Given the description of an element on the screen output the (x, y) to click on. 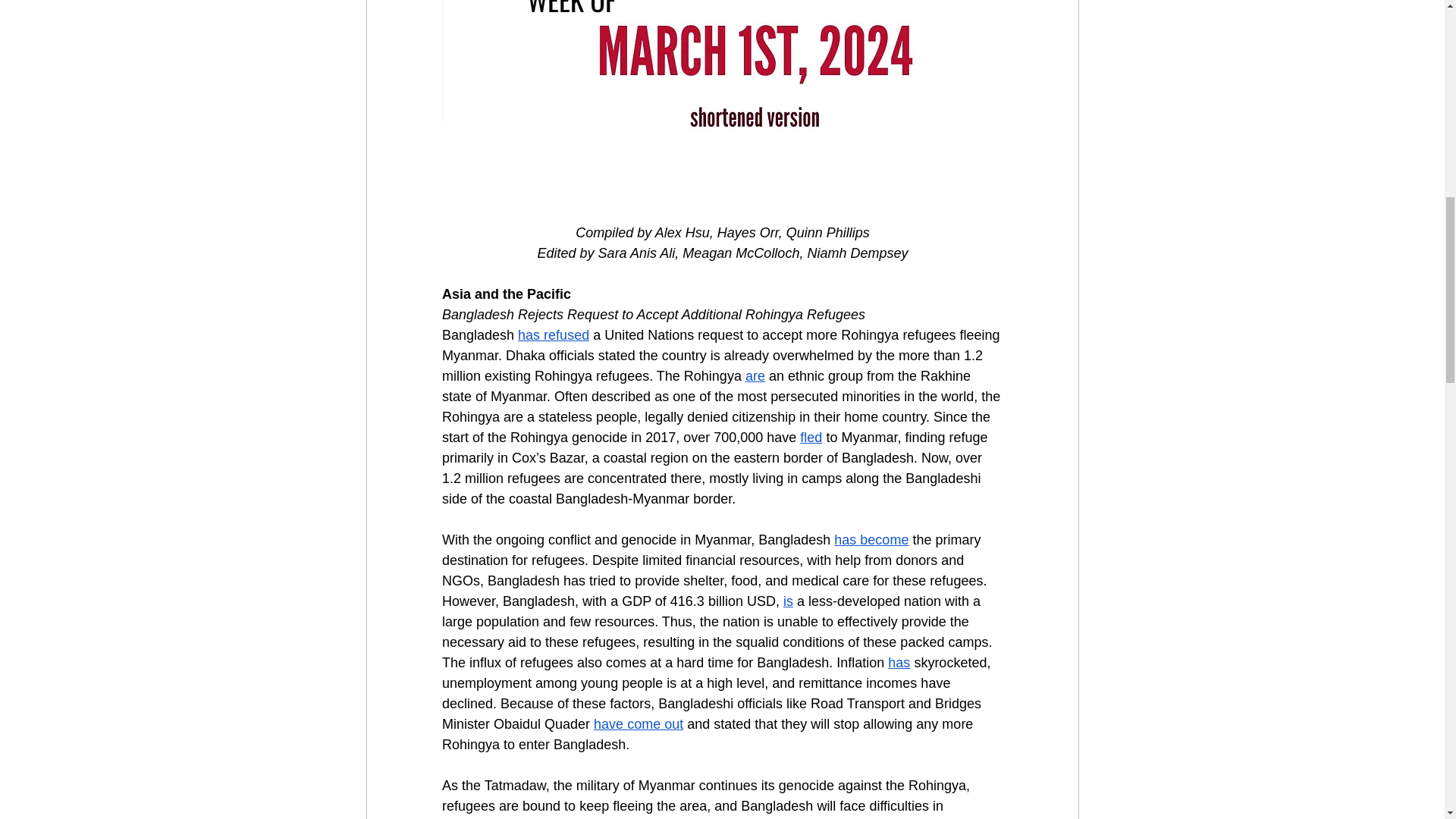
has (899, 662)
have come out (638, 724)
fled (810, 437)
are (754, 376)
is (787, 601)
has refused (553, 335)
has become (871, 539)
